Given the description of an element on the screen output the (x, y) to click on. 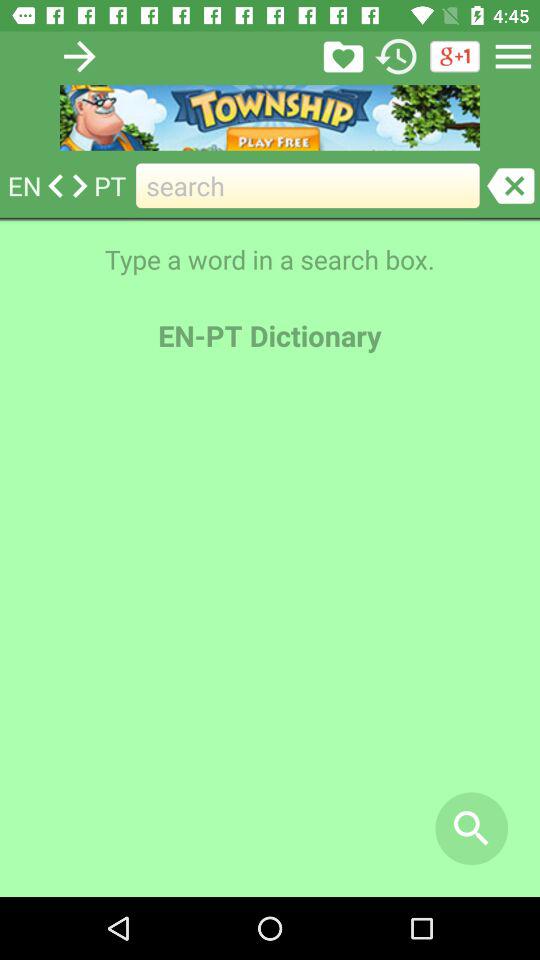
select item at the center (270, 635)
